Given the description of an element on the screen output the (x, y) to click on. 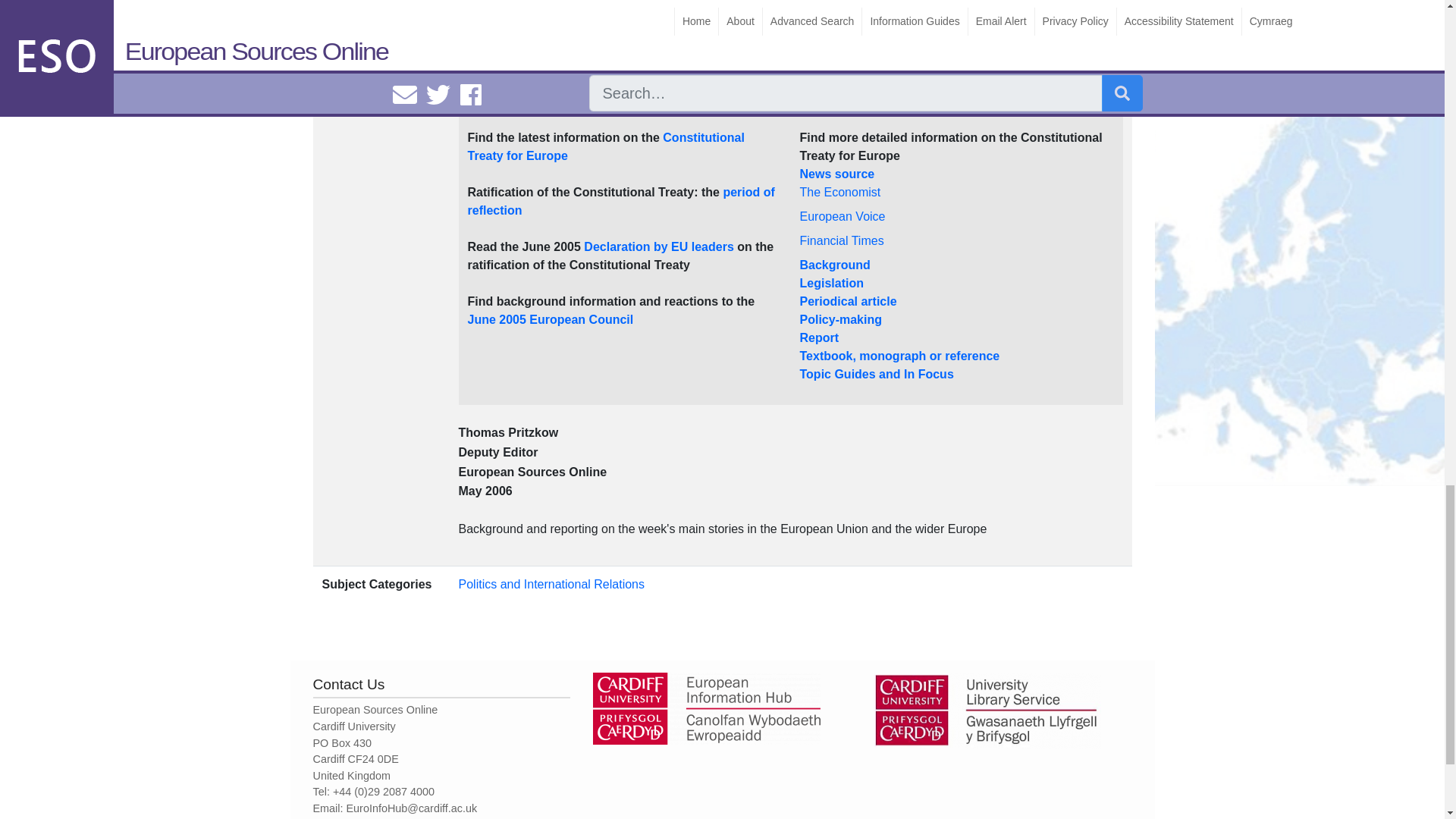
Periodical article (847, 300)
Report (818, 337)
European Voice (842, 215)
Legislation (831, 282)
June 2005 European Council (550, 318)
Constitutional Treaty for Europe (605, 146)
period of reflection (620, 201)
The Economist (839, 192)
Declaration by EU leaders (658, 246)
Financial Times (841, 240)
